Given the description of an element on the screen output the (x, y) to click on. 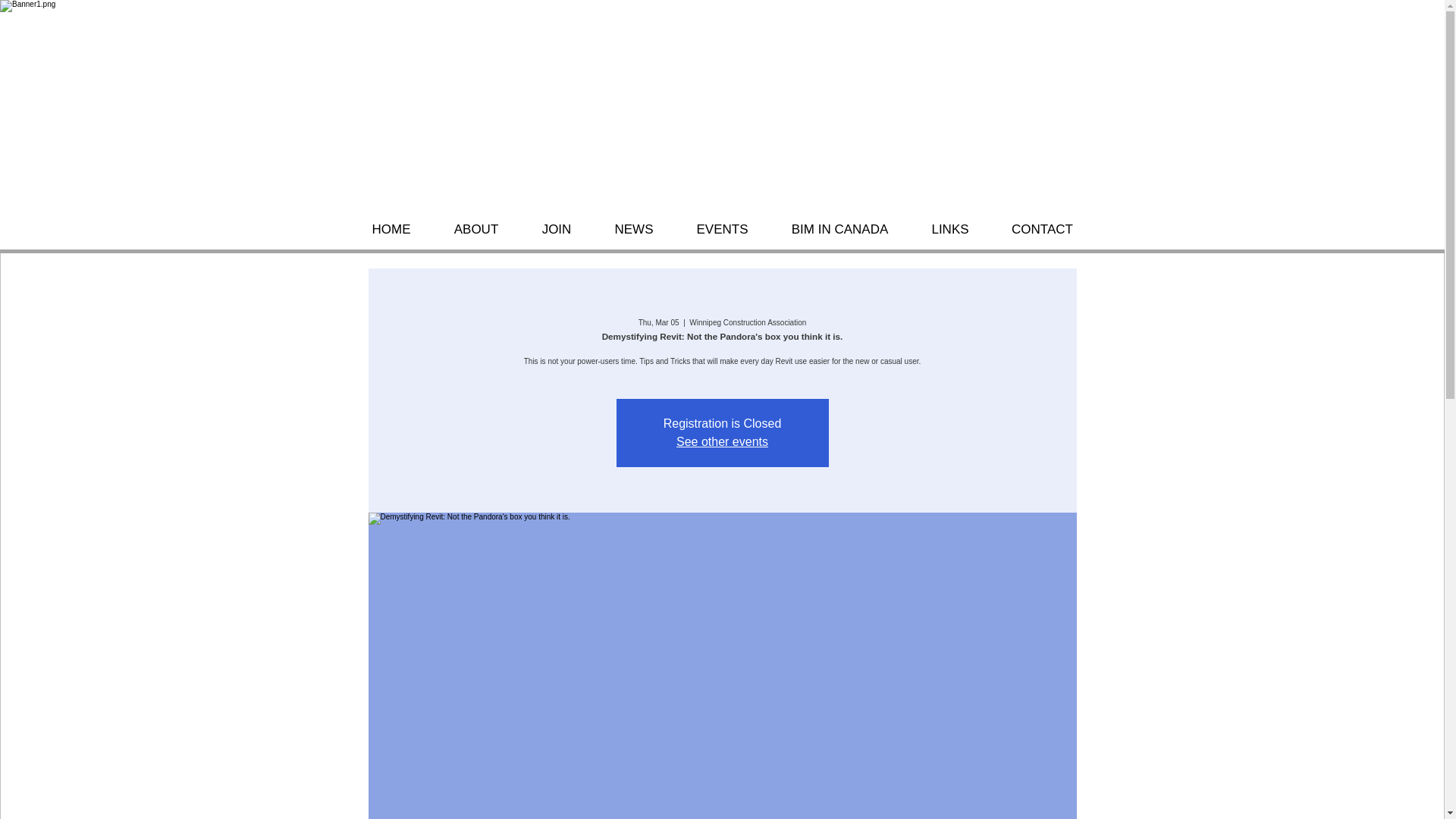
ABOUT (475, 229)
EVENTS (722, 229)
CONTACT (1042, 229)
See other events (722, 440)
BIM IN CANADA (838, 229)
JOIN (555, 229)
NEWS (633, 229)
LINKS (950, 229)
HOME (390, 229)
